Given the description of an element on the screen output the (x, y) to click on. 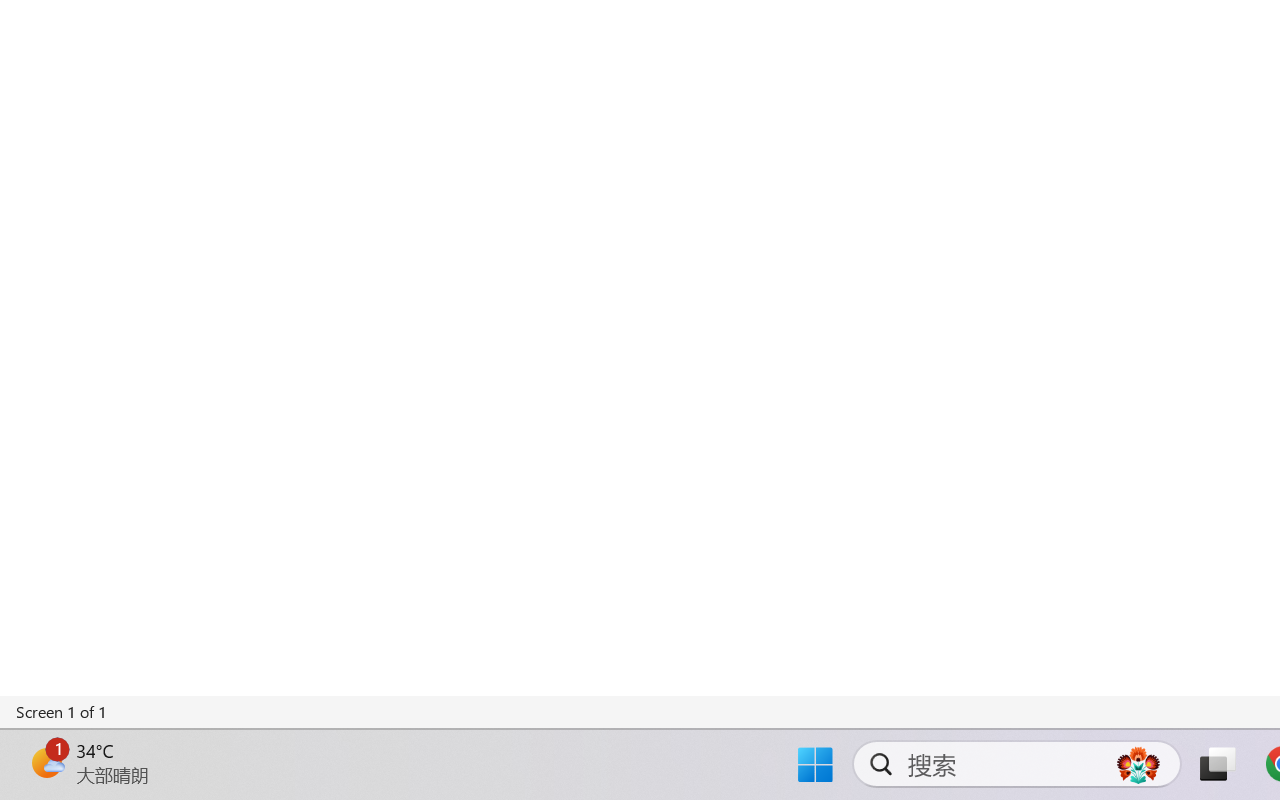
Page Number Screen 1 of 1  (62, 712)
